Given the description of an element on the screen output the (x, y) to click on. 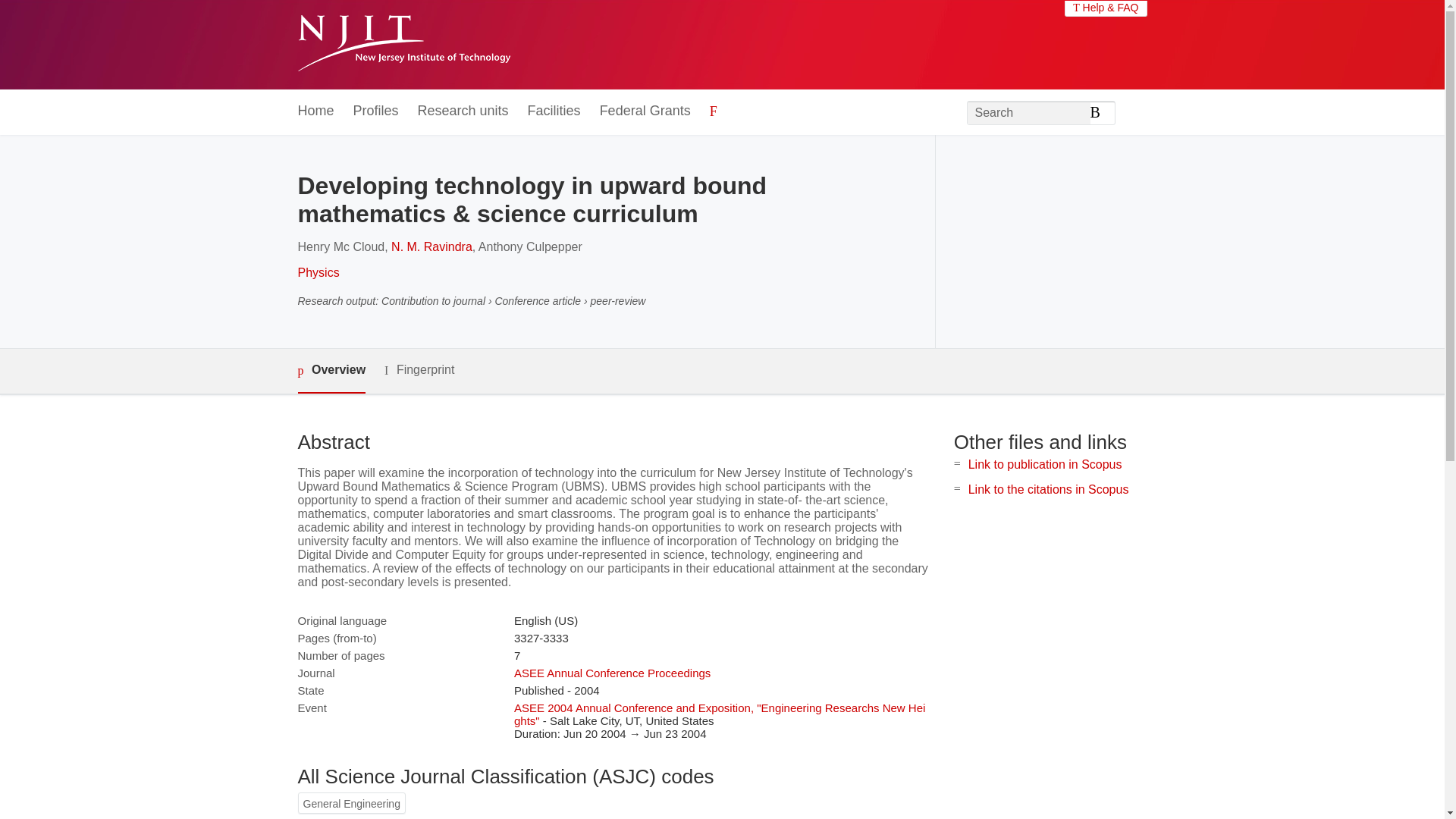
Fingerprint (419, 370)
Federal Grants (644, 111)
Profiles (375, 111)
Overview (331, 370)
Facilities (553, 111)
ASEE Annual Conference Proceedings (611, 672)
Research units (462, 111)
N. M. Ravindra (431, 246)
